Given the description of an element on the screen output the (x, y) to click on. 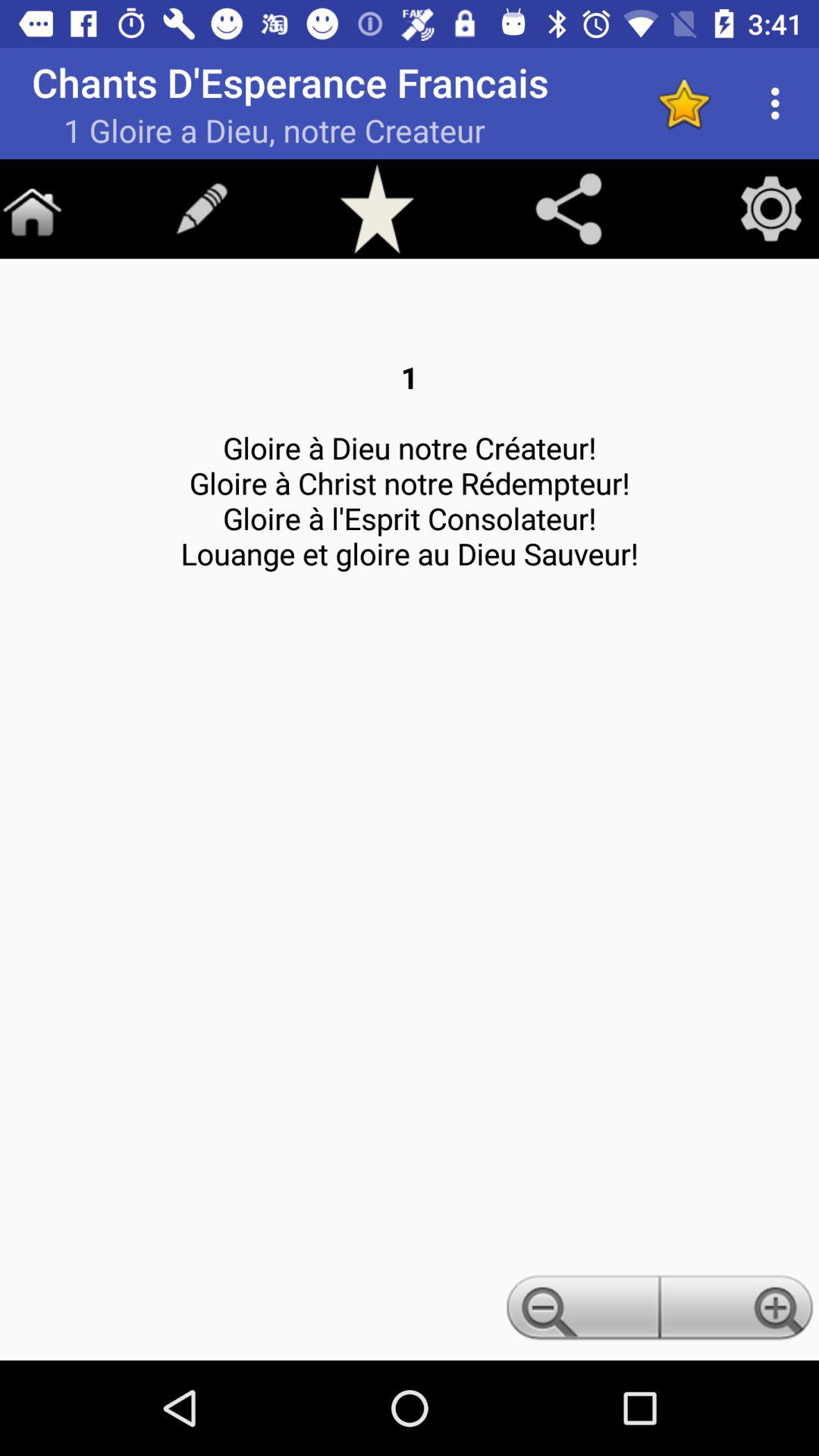
go to settings (771, 208)
